Given the description of an element on the screen output the (x, y) to click on. 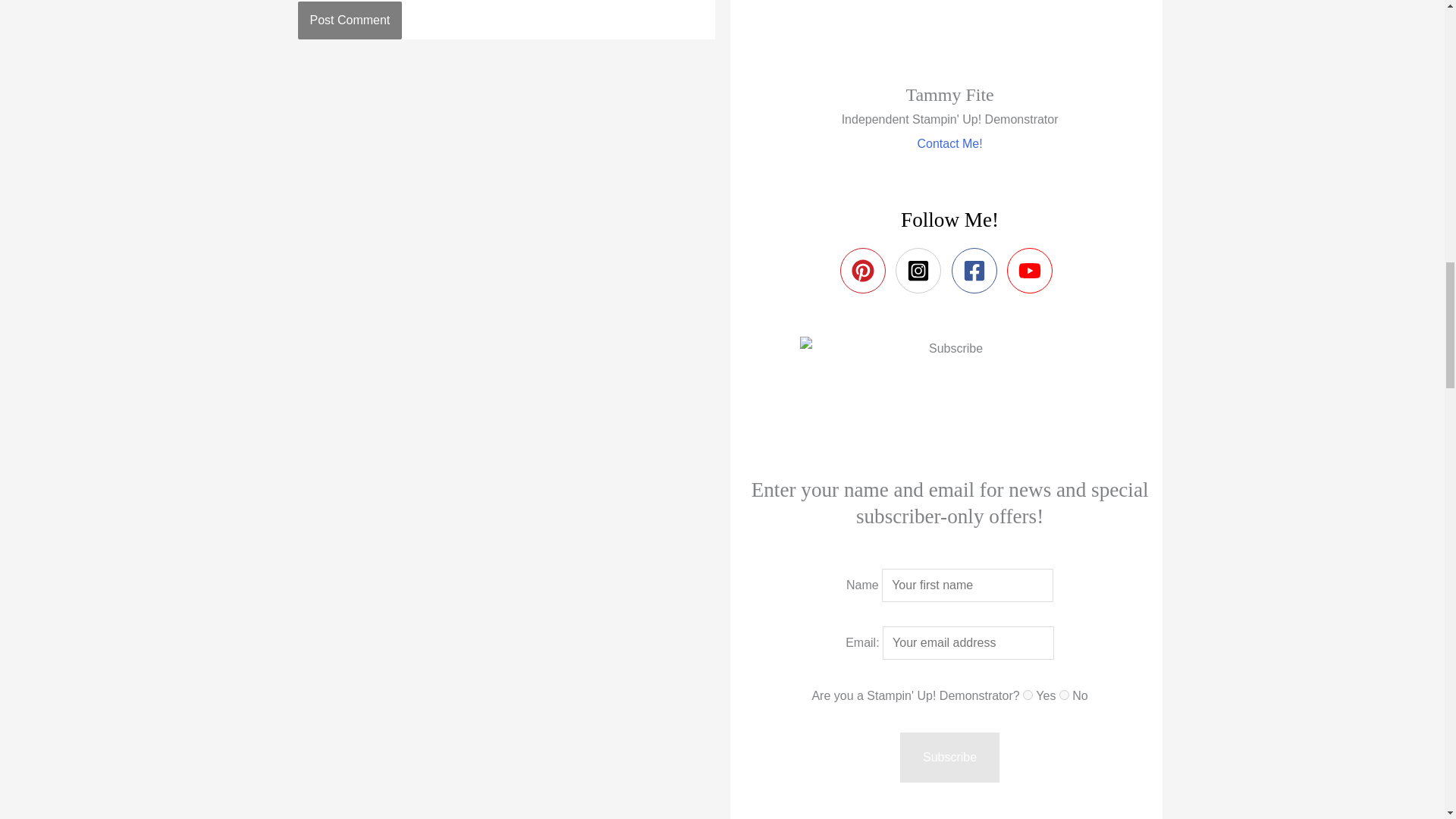
Subscribe (948, 757)
No (1063, 695)
Post Comment (349, 19)
Yes (1027, 695)
